Given the description of an element on the screen output the (x, y) to click on. 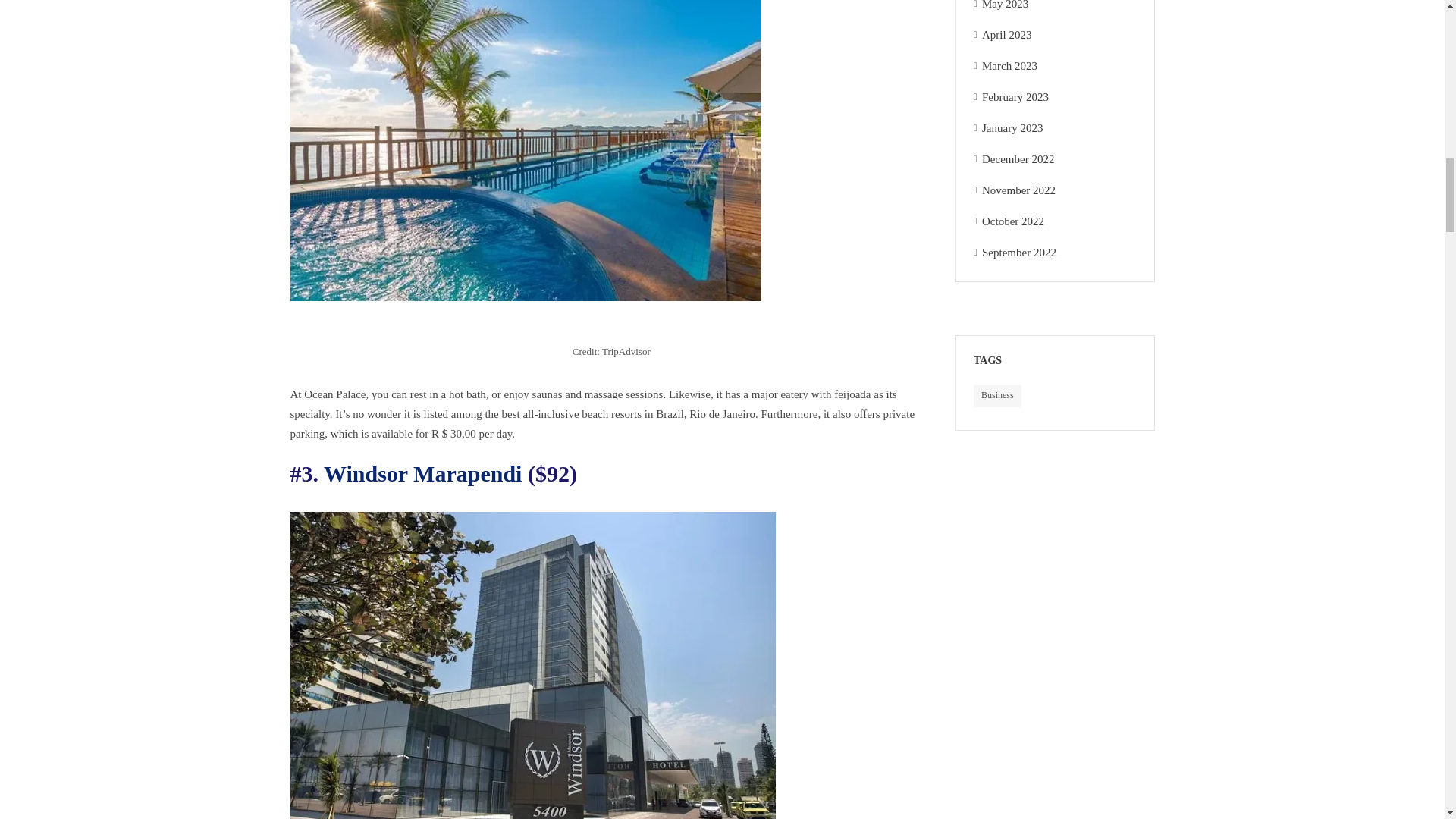
Windsor Marapendi (422, 473)
